Given the description of an element on the screen output the (x, y) to click on. 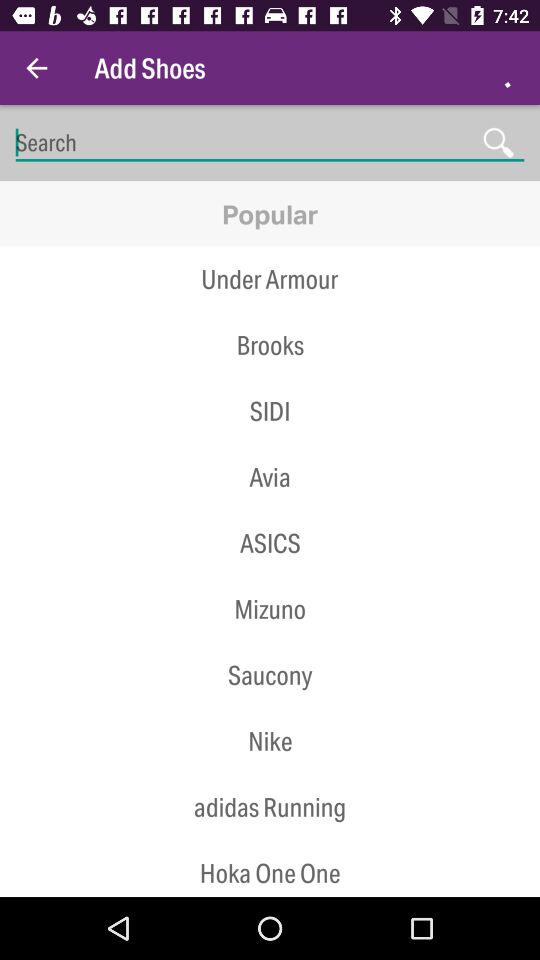
turn off icon below the sidi icon (270, 477)
